Given the description of an element on the screen output the (x, y) to click on. 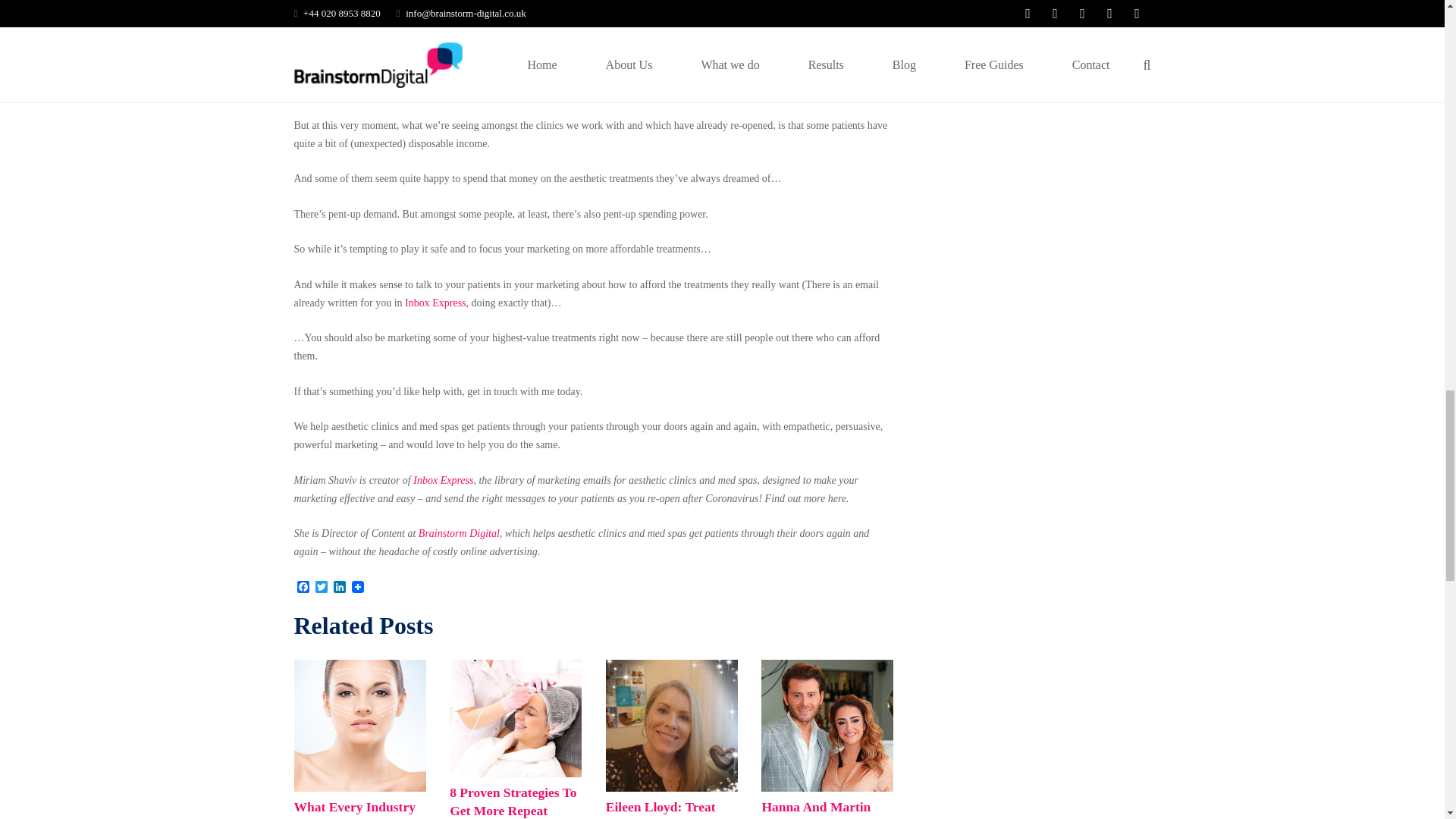
Inbox Express (443, 480)
Brainstorm Digital (459, 532)
Facebook (303, 587)
LinkedIn (339, 587)
Inbox Express (434, 302)
Twitter (321, 587)
